Given the description of an element on the screen output the (x, y) to click on. 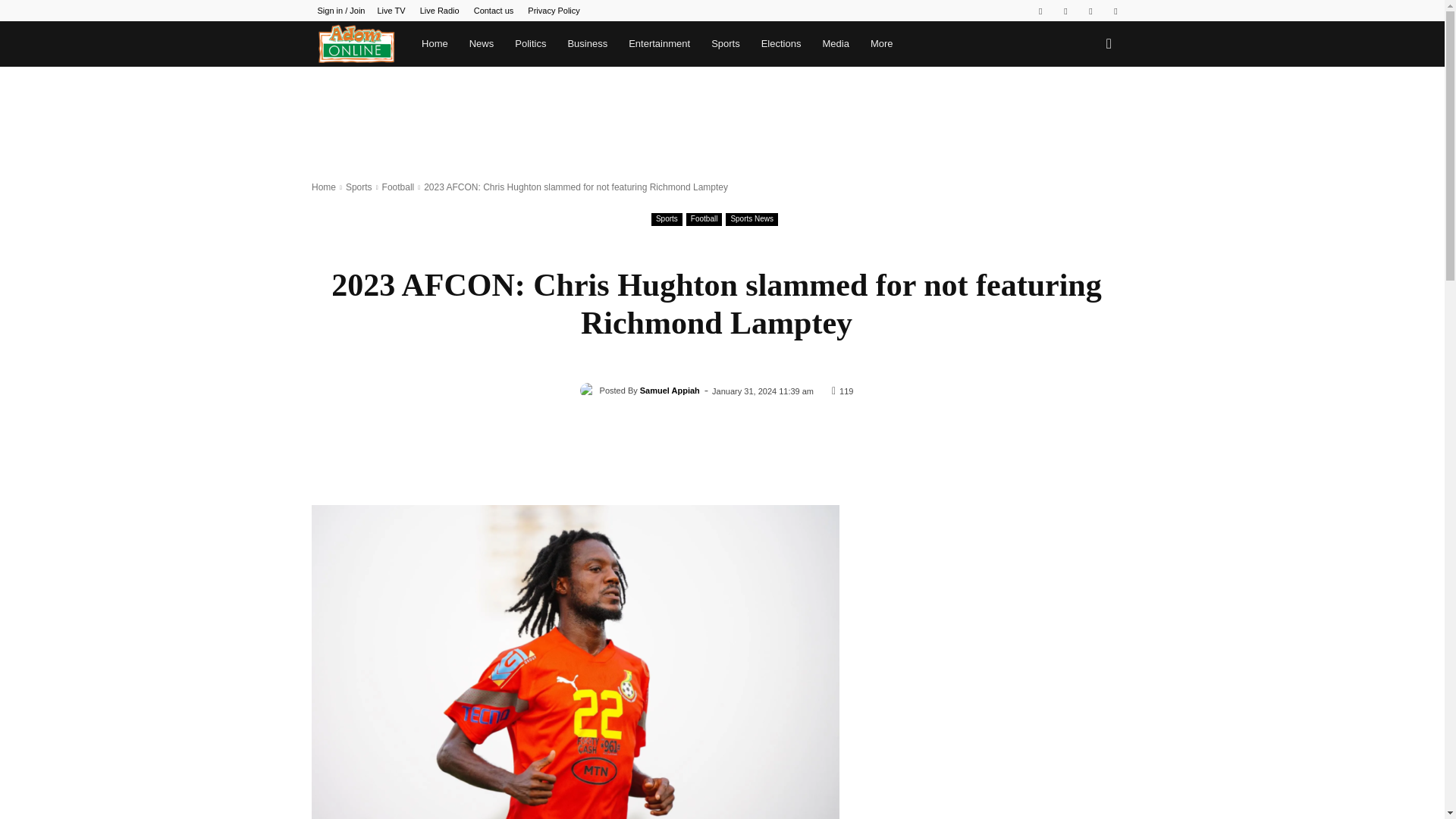
Linkedin (1065, 10)
Adomonline Logo (356, 44)
Youtube (1114, 10)
View all posts in Sports (359, 186)
Contact us (493, 10)
View all posts in Football (397, 186)
Samuel Appiah (589, 390)
Live TV (390, 10)
Live Radio (440, 10)
Facebook (1040, 10)
